Given the description of an element on the screen output the (x, y) to click on. 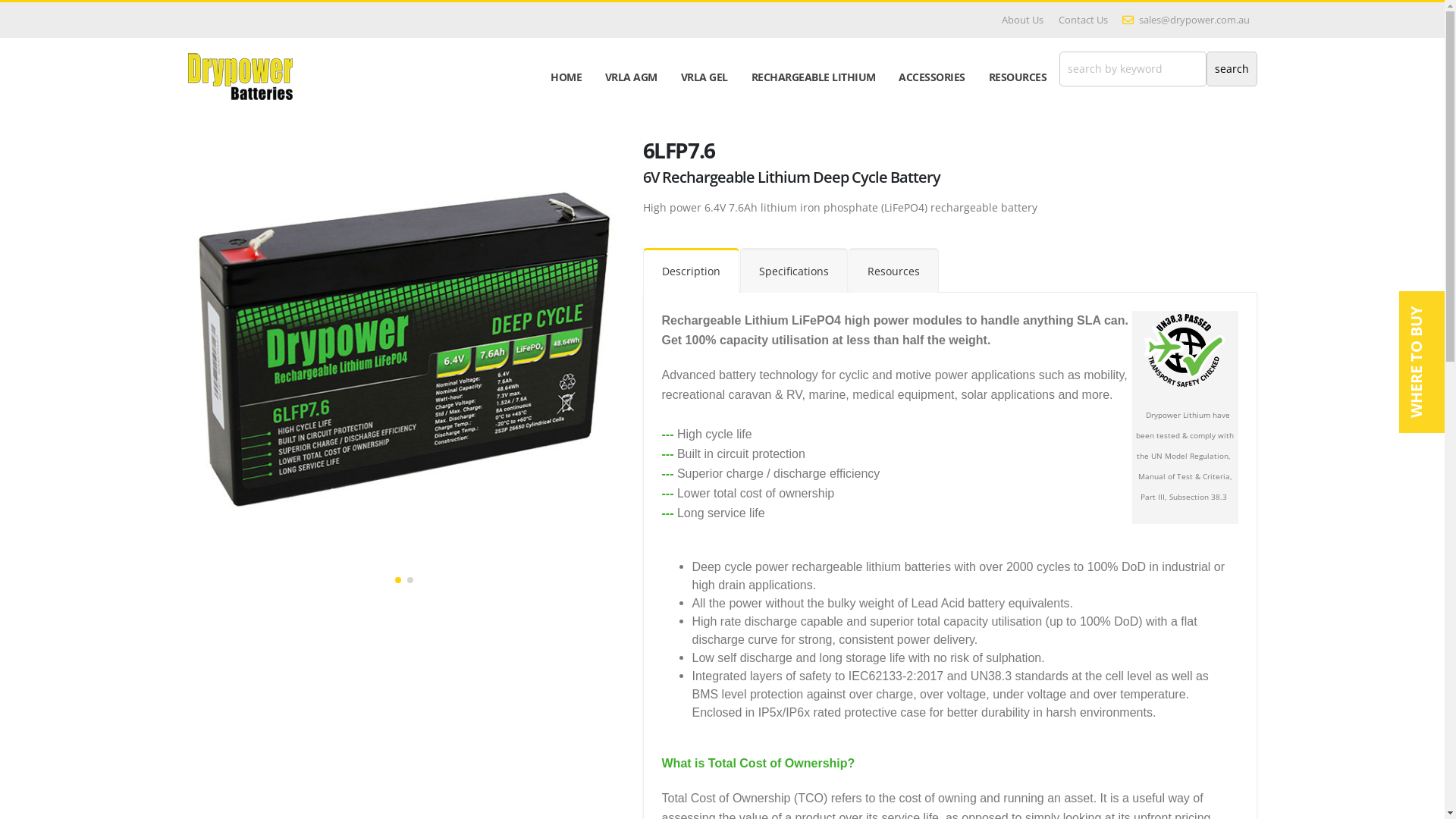
Contact Us Element type: text (1083, 19)
RESOURCES Element type: text (1017, 77)
UN38.3 Certified Element type: hover (1184, 351)
RECHARGEABLE LITHIUM Element type: text (813, 77)
Resources Element type: text (892, 269)
VRLA AGM Element type: text (631, 77)
HOME Element type: text (566, 77)
search Element type: text (1230, 68)
Description Element type: text (691, 269)
Specifications Element type: text (793, 269)
About Us Element type: text (1021, 19)
sales@drypower.com.au Element type: text (1185, 19)
VRLA GEL Element type: text (703, 77)
ACCESSORIES Element type: text (931, 77)
